Given the description of an element on the screen output the (x, y) to click on. 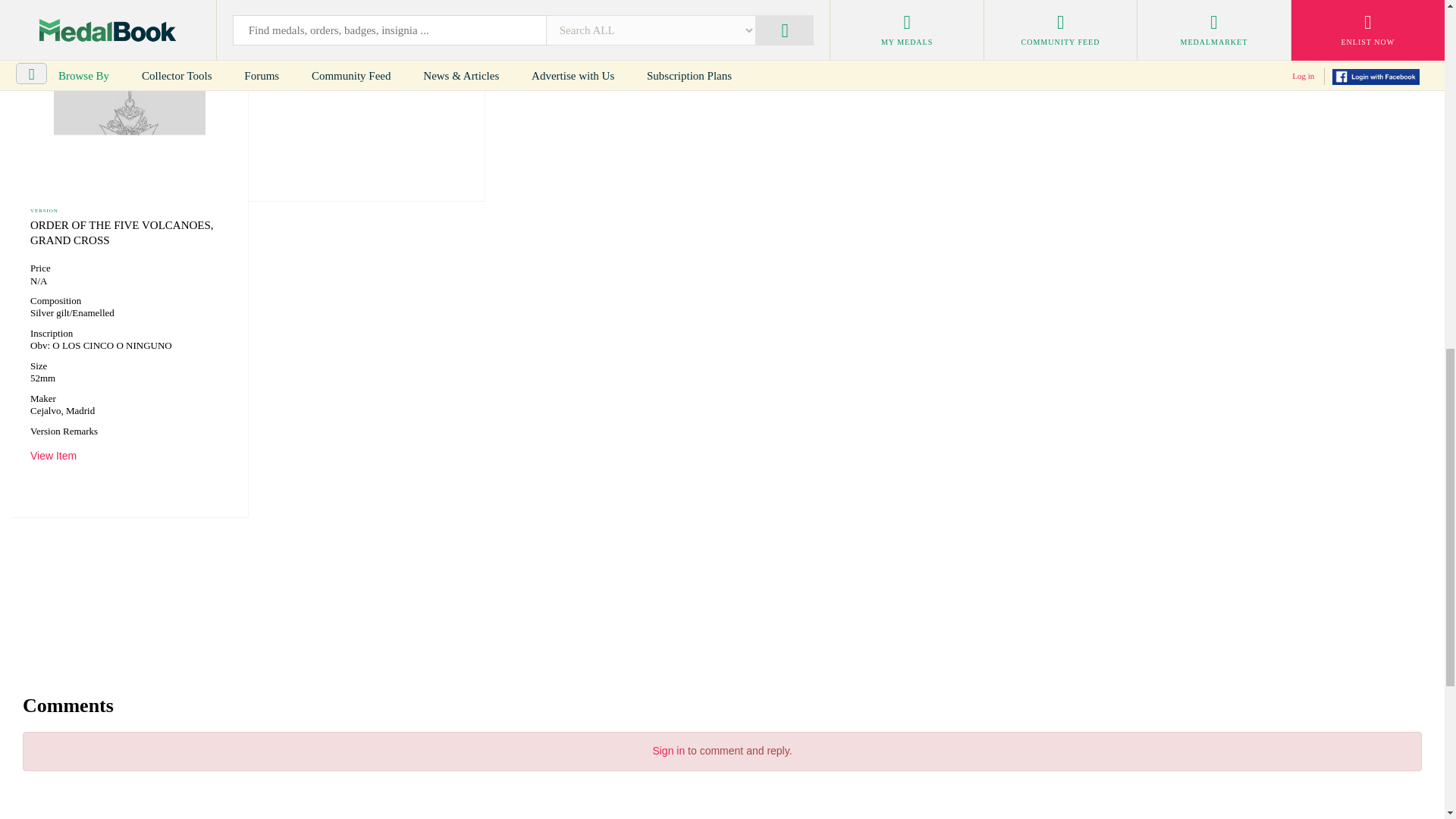
Sign in (668, 750)
View Item (53, 455)
ORDER OF THE FIVE VOLCANOES, GRAND CROSS (122, 232)
